Given the description of an element on the screen output the (x, y) to click on. 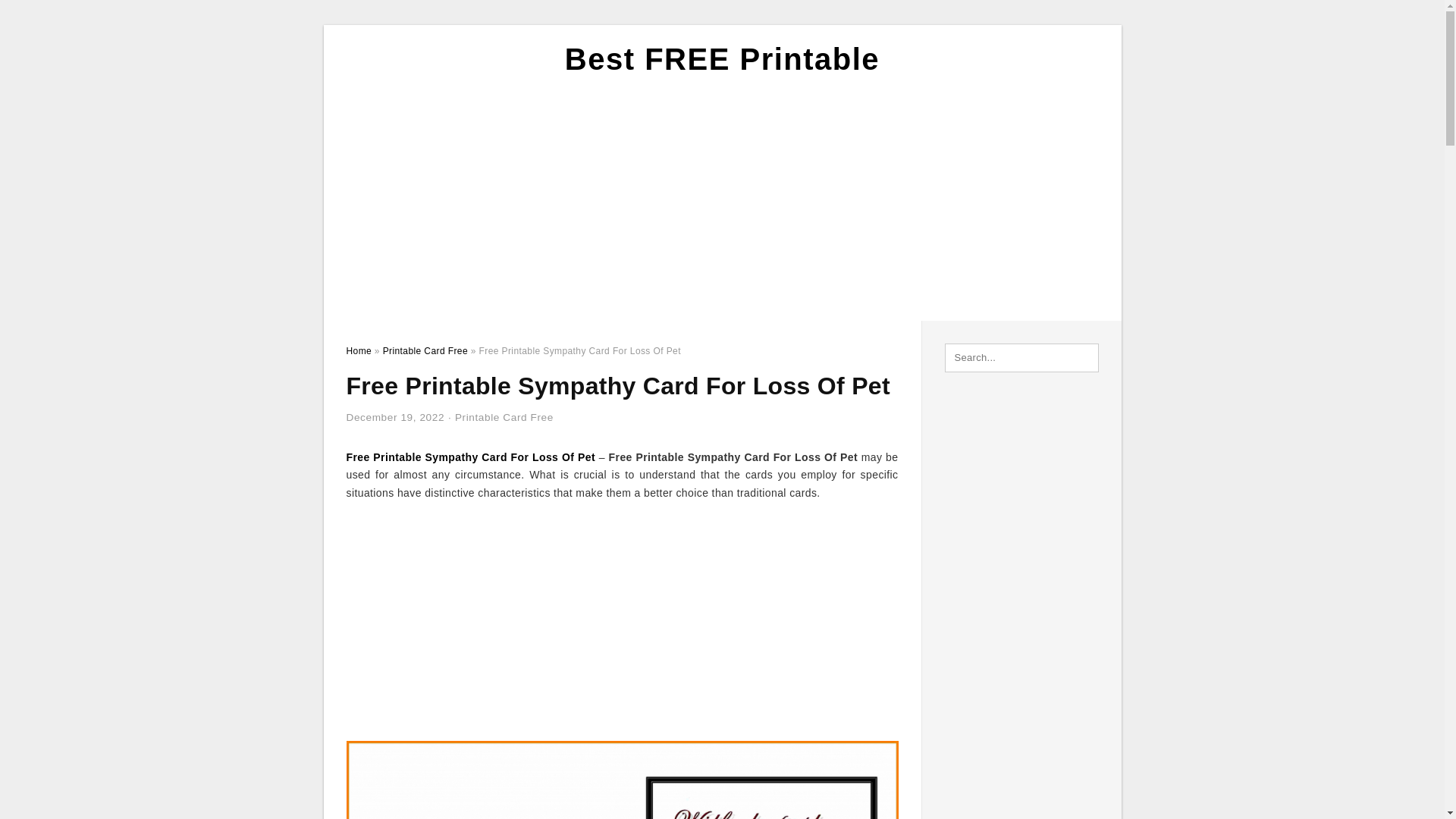
Printable Card Free (503, 417)
Home (358, 350)
Printable Card Free (424, 350)
Free Printable Sympathy Card For Loss Of Pet (470, 457)
Search (43, 15)
Best FREE Printable (721, 59)
